Given the description of an element on the screen output the (x, y) to click on. 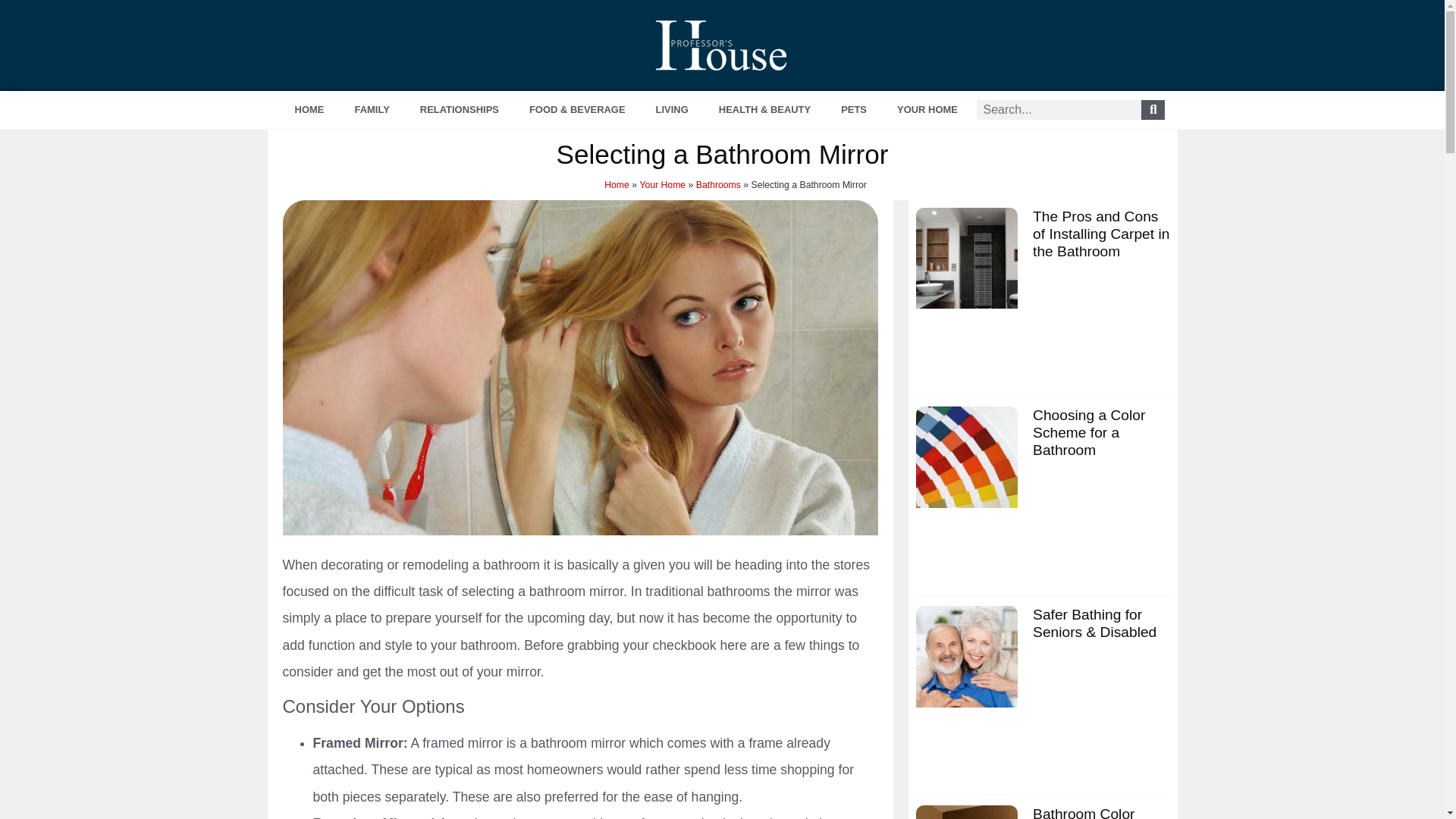
FAMILY (371, 109)
LIVING (671, 109)
HOME (309, 109)
YOUR HOME (927, 109)
RELATIONSHIPS (458, 109)
PETS (853, 109)
Family (371, 109)
